Given the description of an element on the screen output the (x, y) to click on. 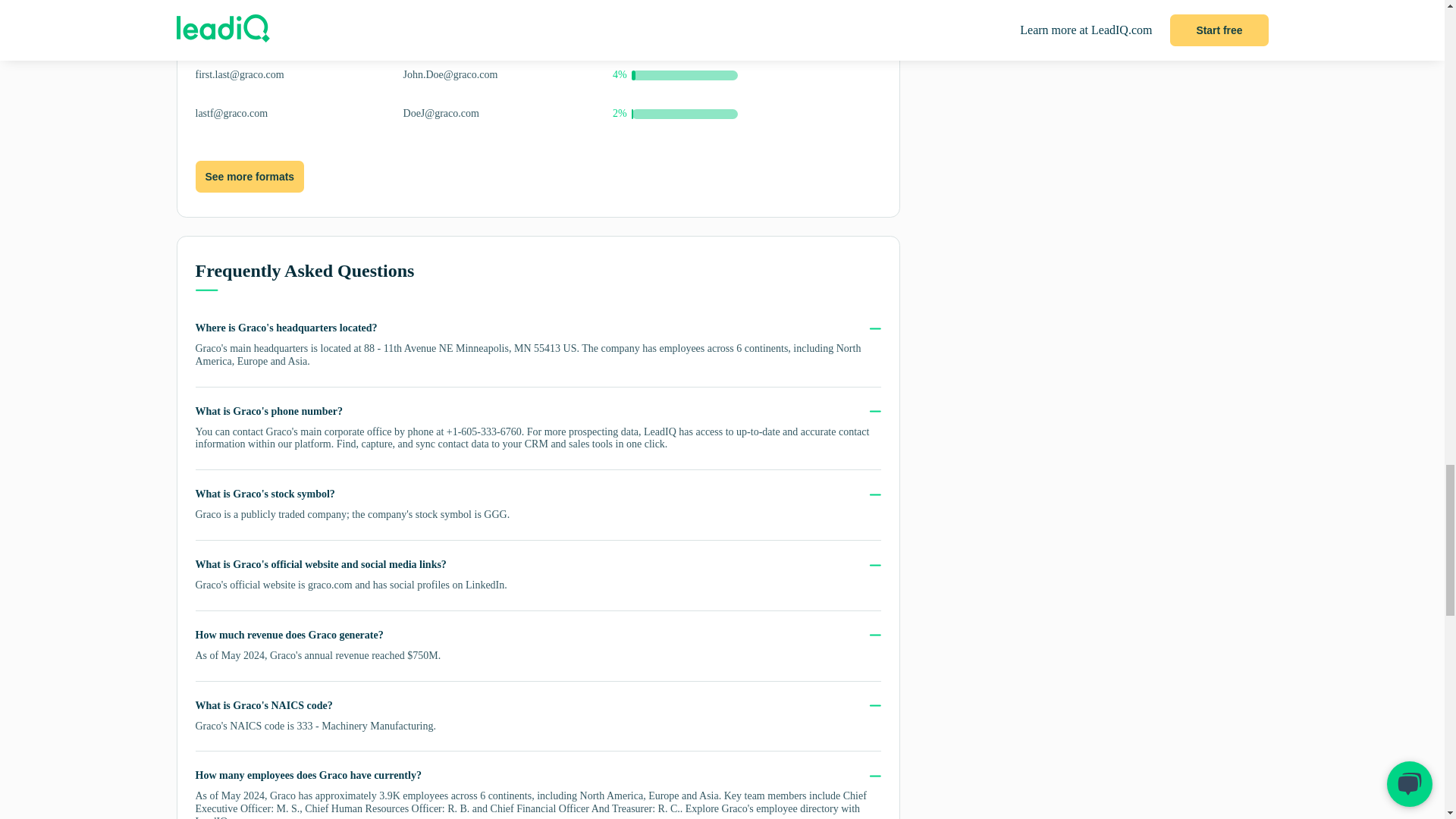
See more formats (249, 176)
See more formats (249, 176)
LinkedIn (484, 584)
Graco's employee directory (780, 808)
graco.com (329, 584)
